Given the description of an element on the screen output the (x, y) to click on. 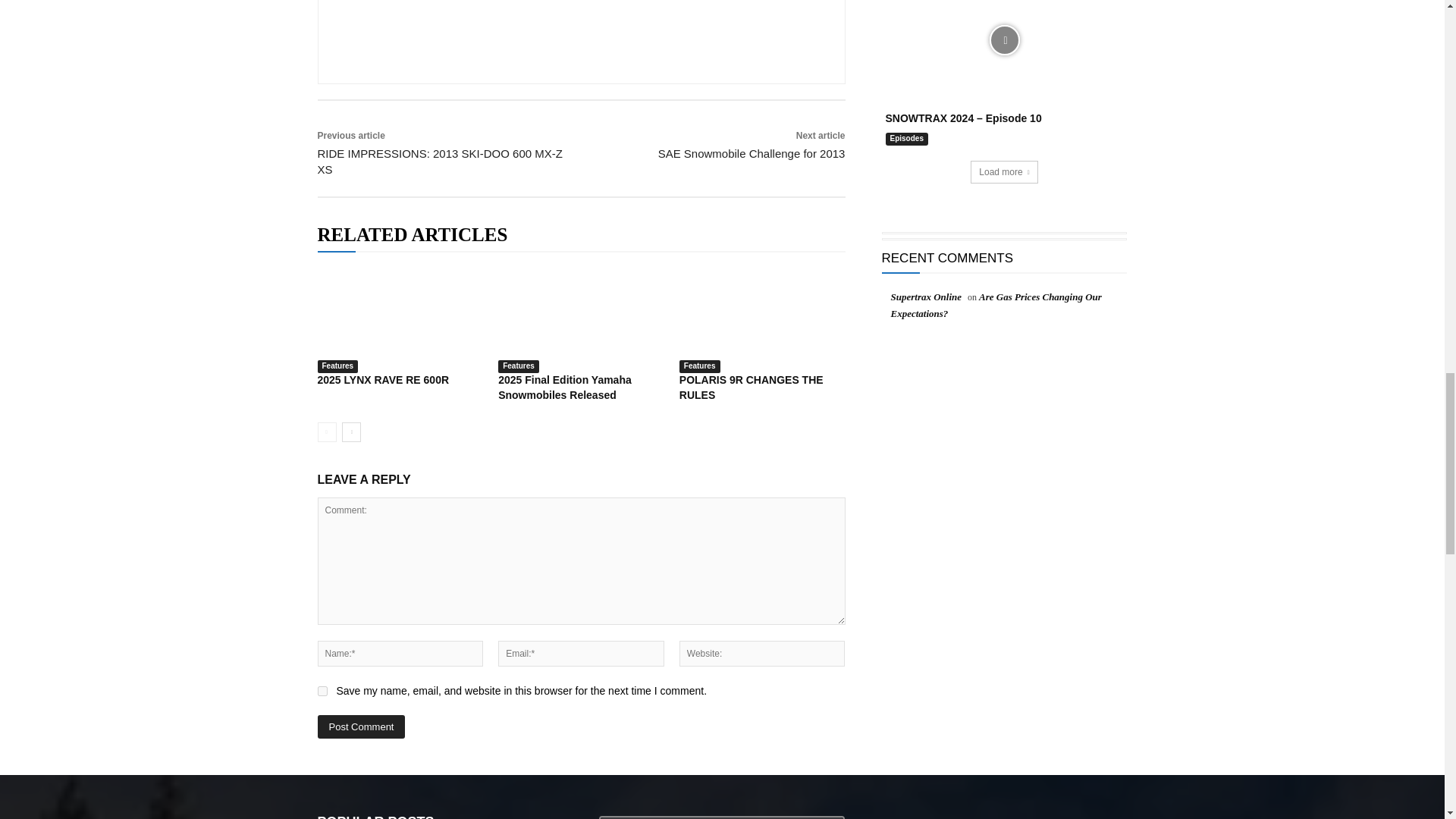
yes (321, 691)
Post Comment (360, 726)
